Given the description of an element on the screen output the (x, y) to click on. 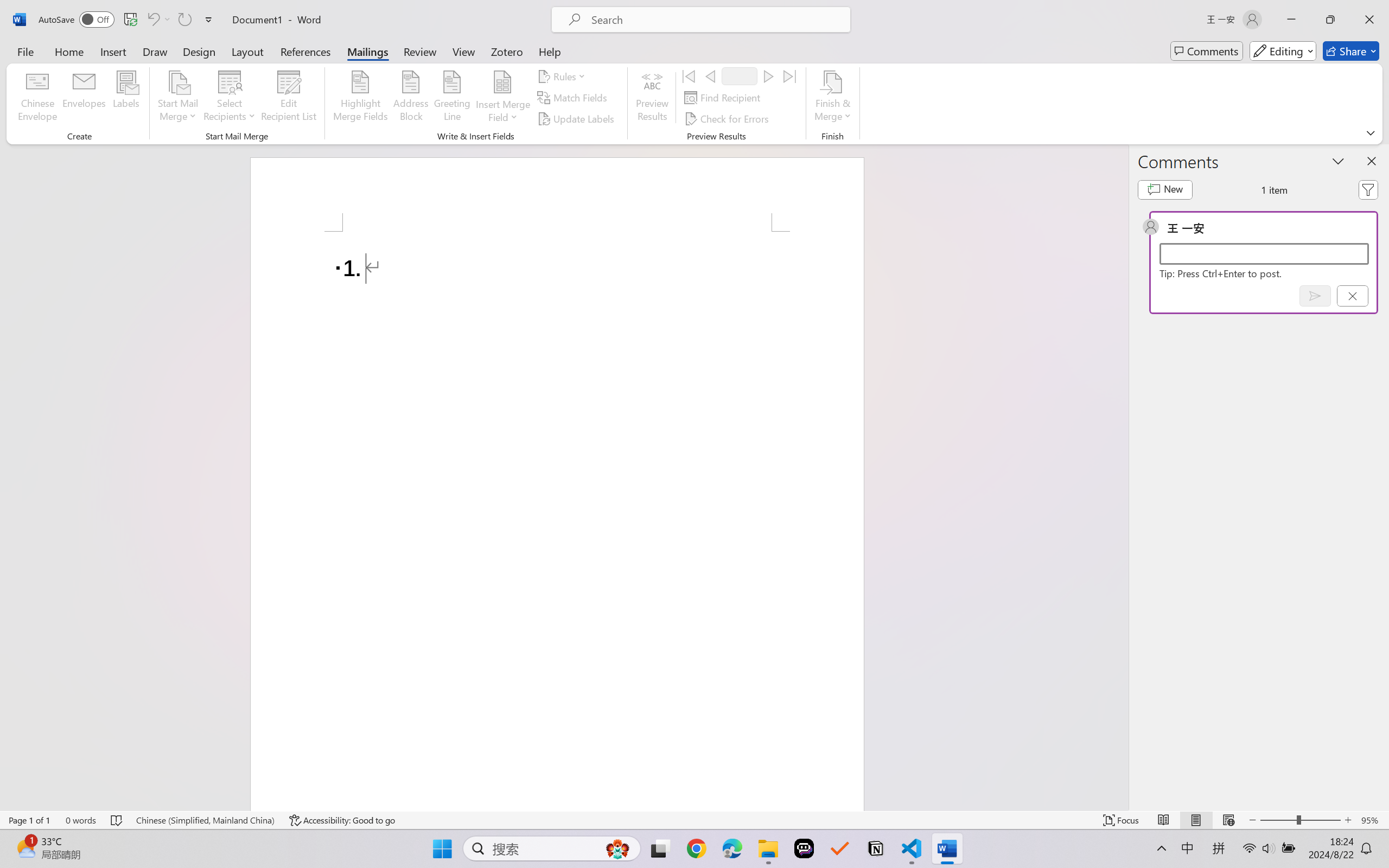
Bold (174, 71)
Office Clipboard... (84, 91)
Shape Fill Dark Green, Accent 2 (644, 46)
Clear Formatting (312, 52)
Columns (406, 71)
Freeform: Scribble (528, 72)
